Given the description of an element on the screen output the (x, y) to click on. 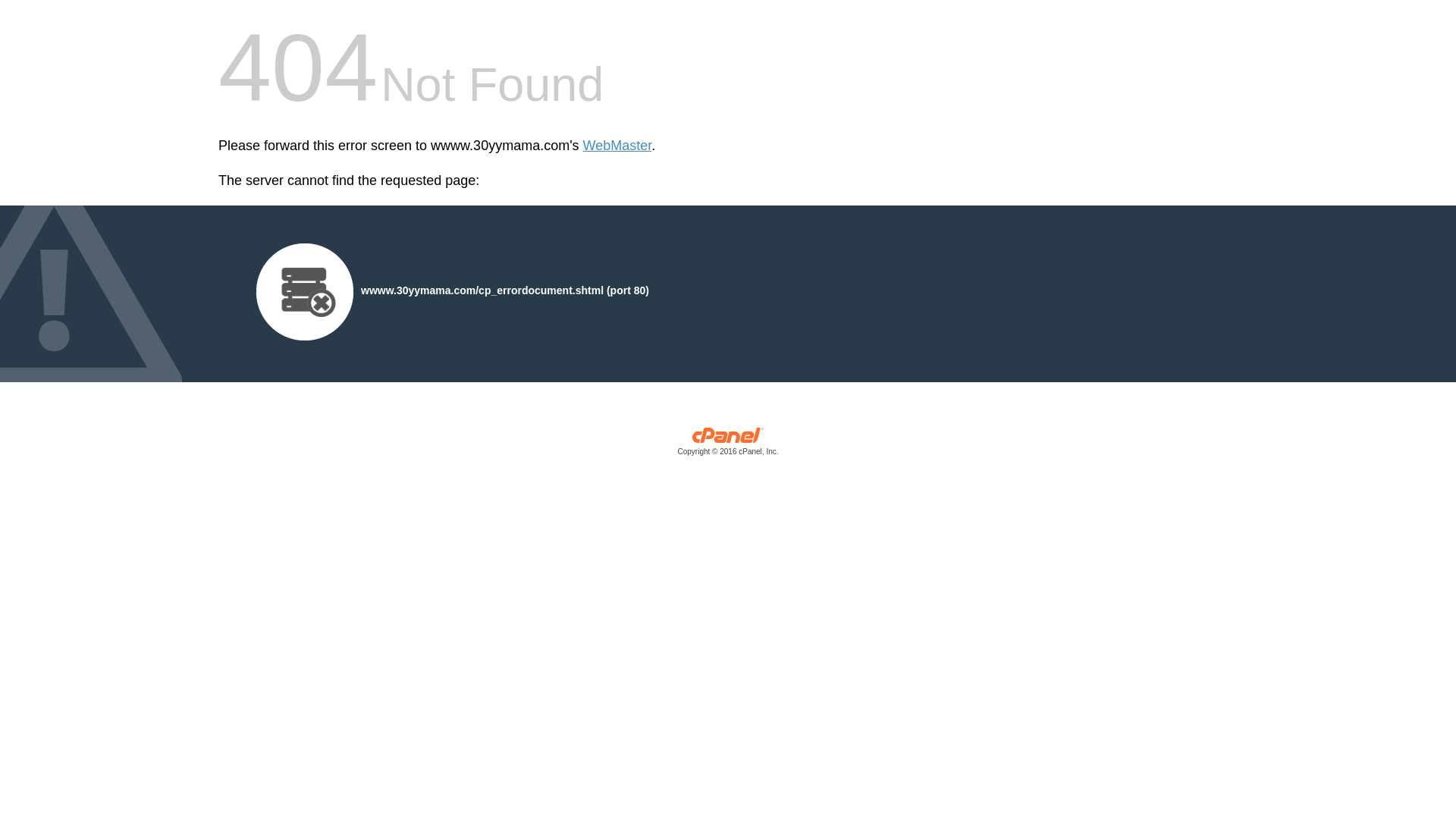
WebMaster Element type: text (617, 145)
